Given the description of an element on the screen output the (x, y) to click on. 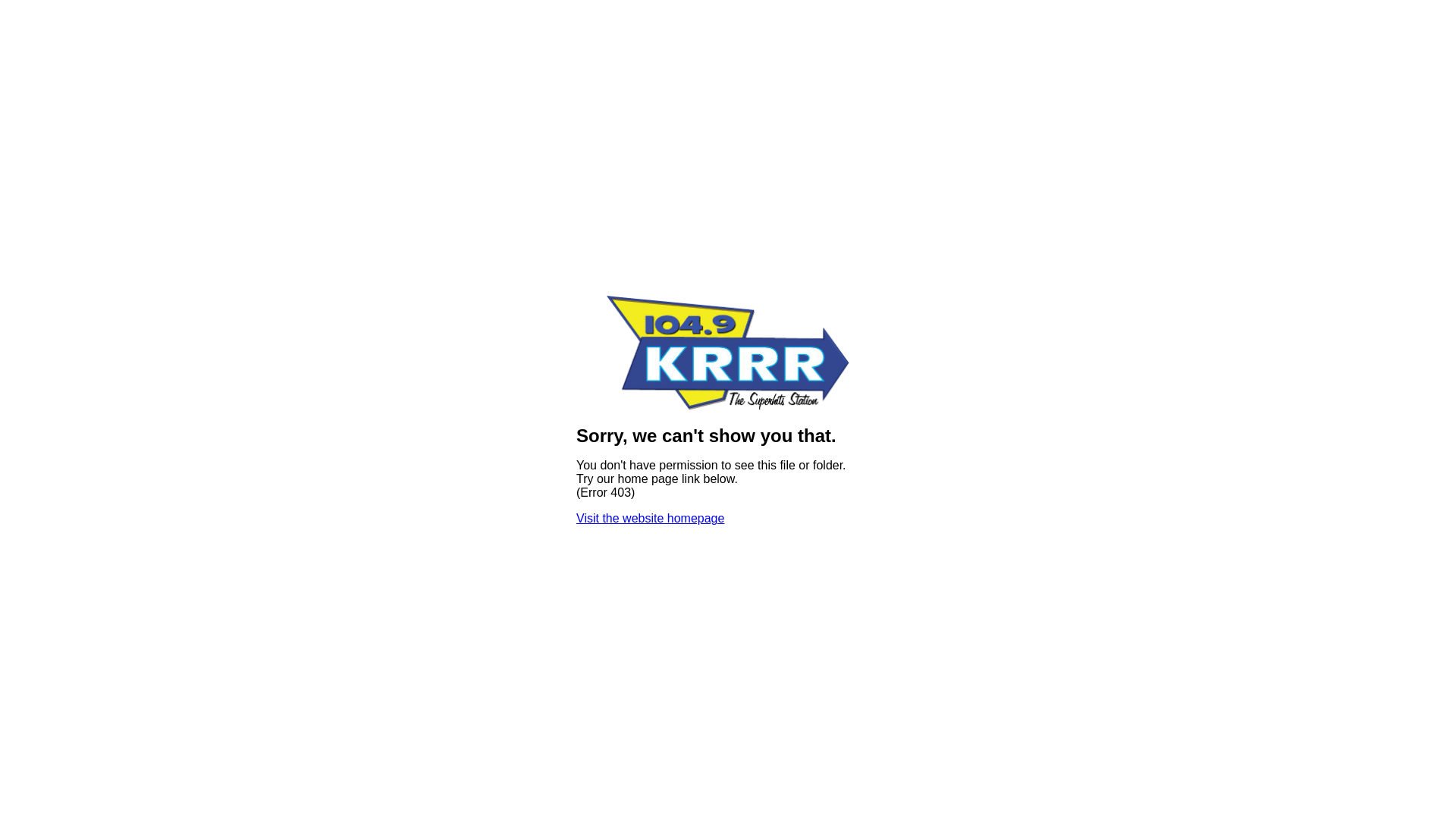
Visit the website homepage Element type: text (650, 517)
